Given the description of an element on the screen output the (x, y) to click on. 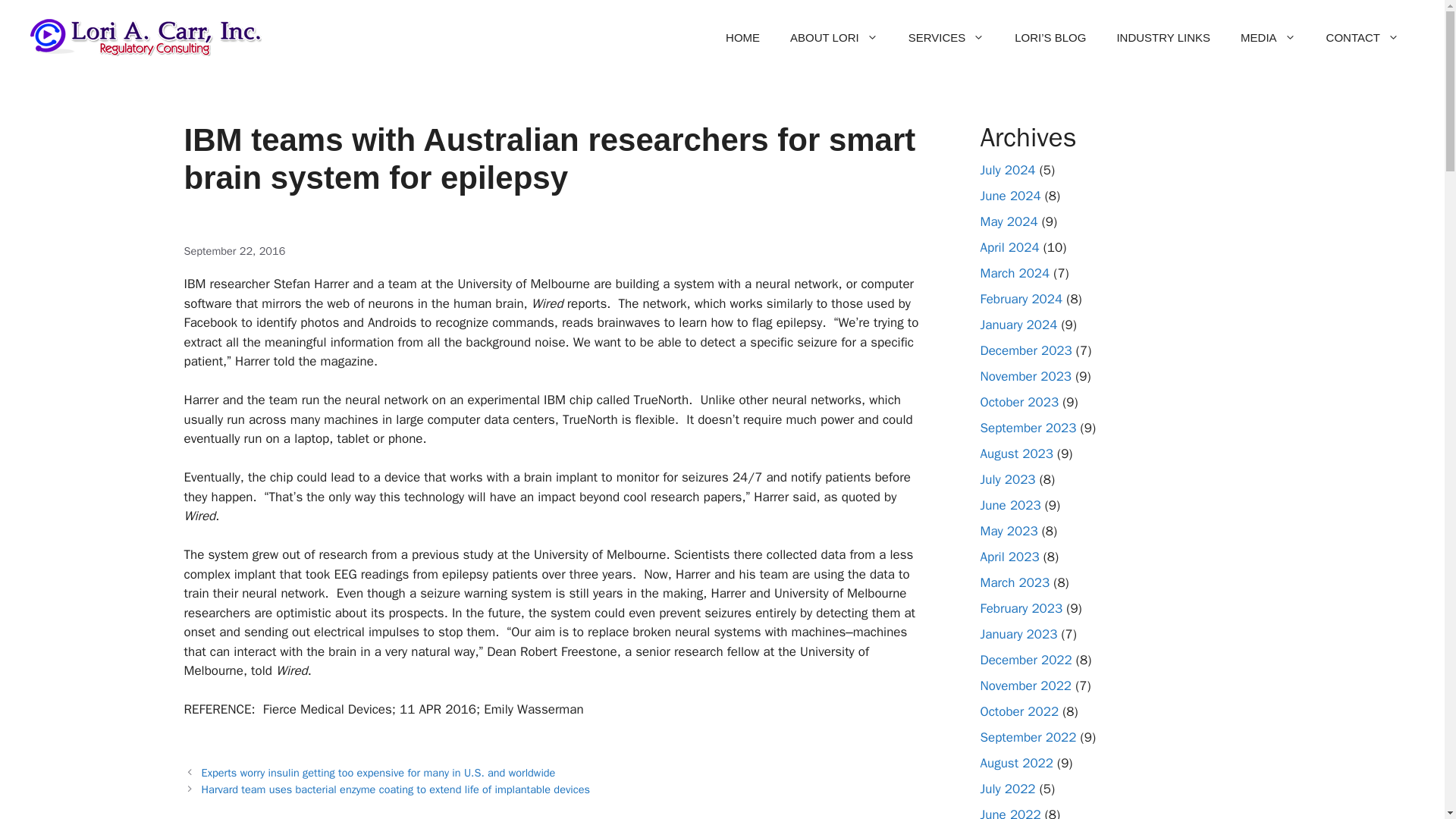
MEDIA (1268, 37)
HOME (742, 37)
ABOUT LORI (833, 37)
INDUSTRY LINKS (1162, 37)
CONTACT (1362, 37)
SERVICES (946, 37)
